Given the description of an element on the screen output the (x, y) to click on. 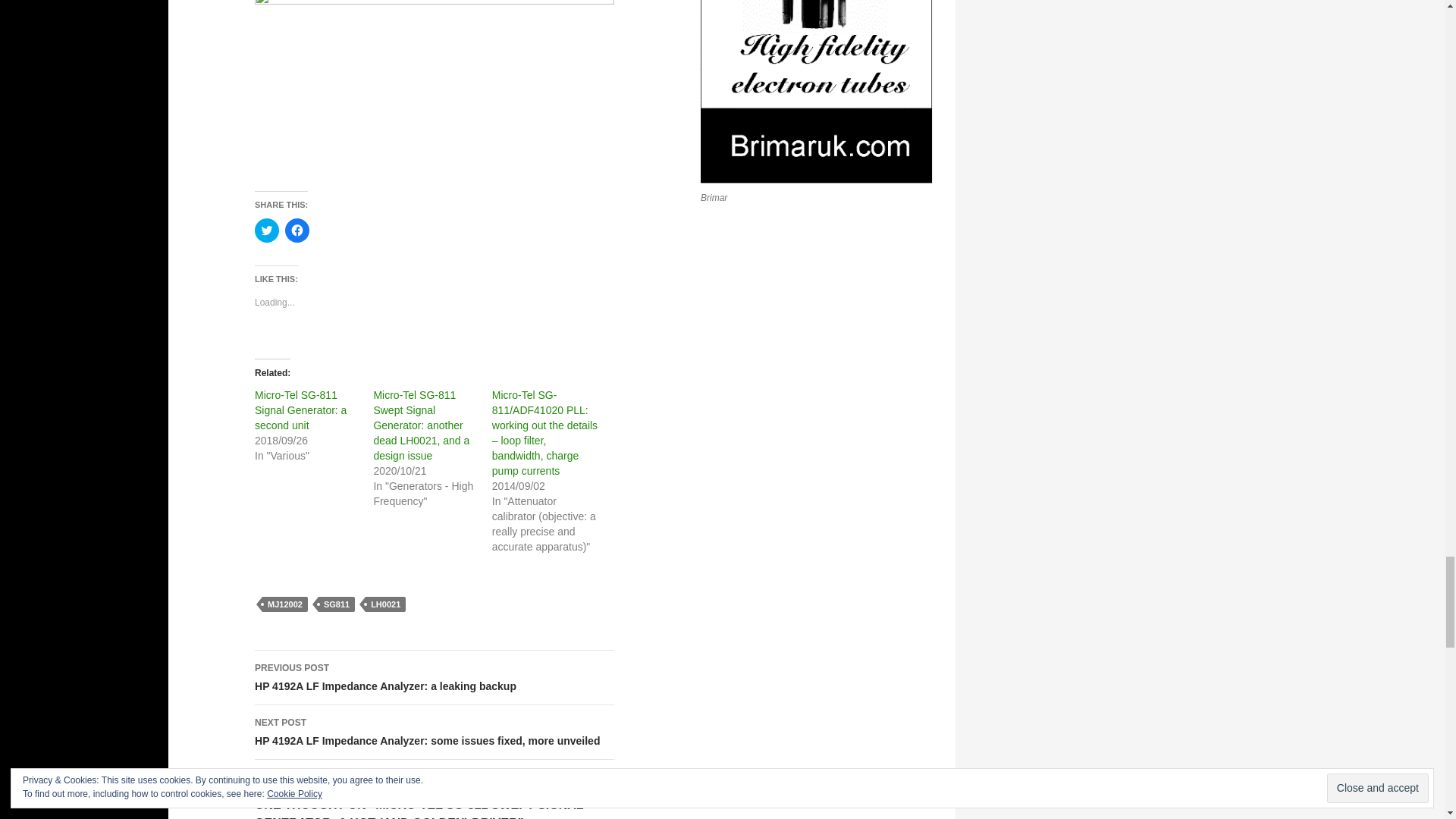
Click to share on Twitter (266, 230)
MJ12002 (284, 604)
Click to share on Facebook (296, 230)
SG811 (336, 604)
Micro-Tel SG-811 Signal Generator: a second unit (300, 410)
Micro-Tel SG-811 Signal Generator: a second unit (300, 410)
